Given the description of an element on the screen output the (x, y) to click on. 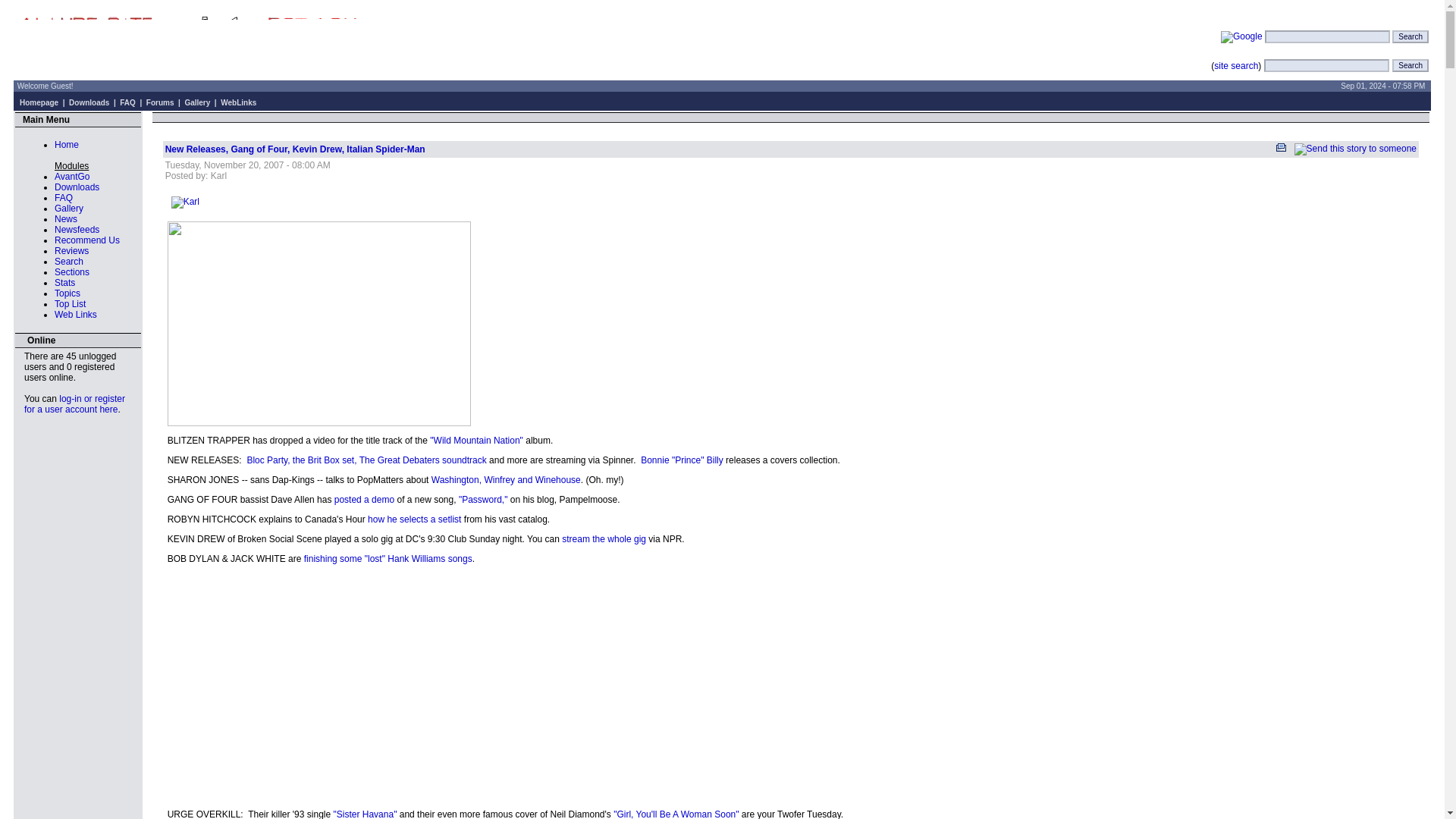
Search (1409, 36)
WebLinks (238, 102)
Topics (67, 293)
"Password," (483, 499)
Search (1409, 36)
Search (1409, 65)
Gallery (68, 208)
FAQ (63, 197)
Gallery (196, 102)
Web Links (76, 314)
